Given the description of an element on the screen output the (x, y) to click on. 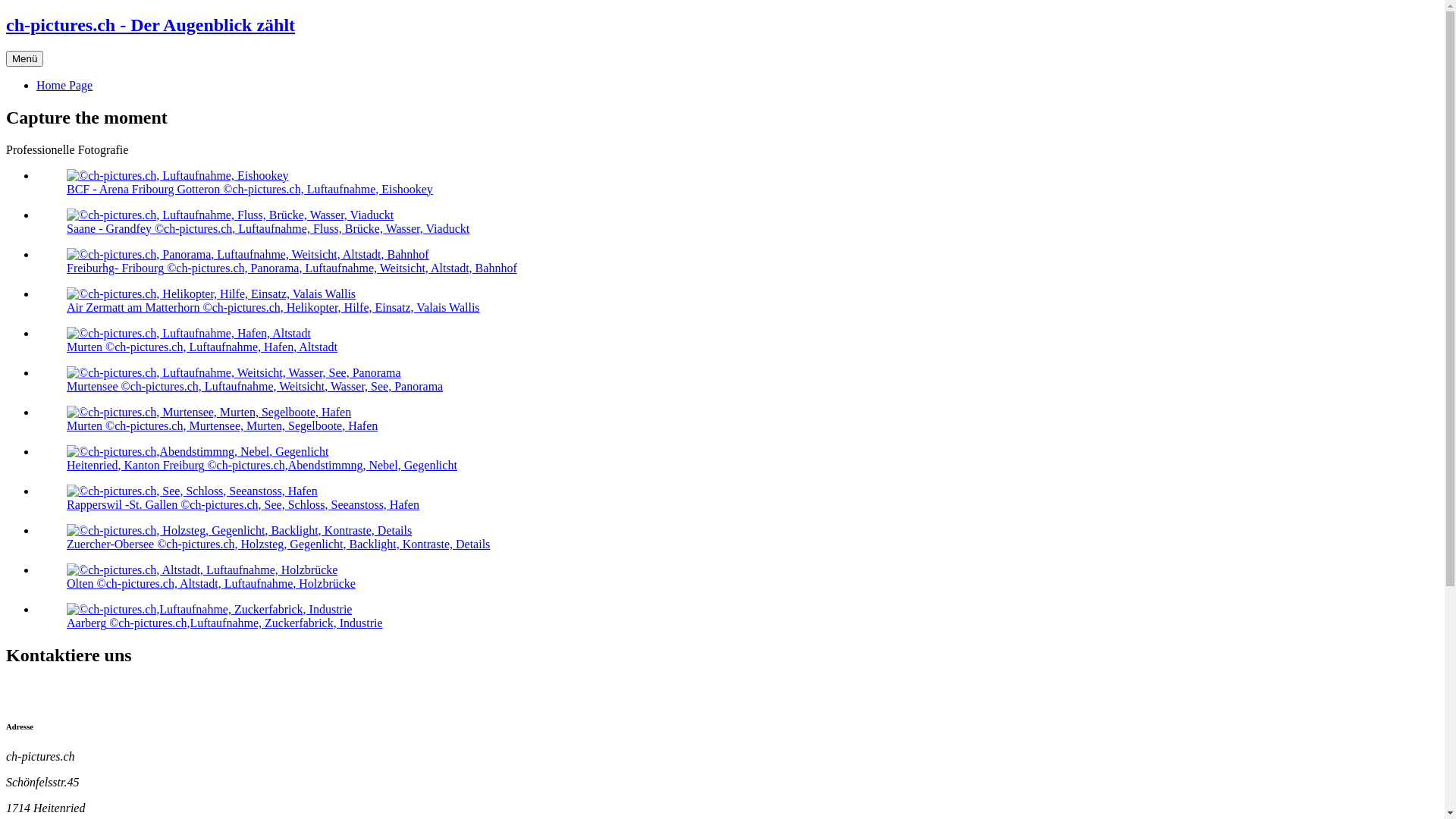
BCF - Arena Fribourg Gotteron Element type: hover (177, 175)
Zuercher-Obersee Element type: hover (238, 530)
Rapperswil -St. Gallen Element type: hover (191, 490)
Saane - Grandfey Element type: hover (229, 214)
Saane - Grandfey Element type: hover (229, 215)
Rapperswil -St. Gallen Element type: hover (191, 491)
Air Zermatt am Matterhorn Element type: hover (210, 293)
Freiburhg- Fribourg Element type: hover (247, 254)
Murten Element type: hover (188, 333)
Aarberg Element type: hover (208, 609)
Murtensee Element type: hover (233, 372)
Murten Element type: hover (188, 332)
Zuercher-Obersee Element type: hover (238, 530)
BCF - Arena Fribourg Gotteron Element type: hover (177, 175)
Aarberg Element type: hover (208, 608)
Murtensee Element type: hover (233, 372)
Olten Element type: hover (201, 570)
Heitenried, Kanton Freiburg Element type: hover (197, 451)
Murten Element type: hover (208, 411)
Murten Element type: hover (208, 412)
Olten Element type: hover (201, 569)
Air Zermatt am Matterhorn Element type: hover (210, 294)
Freiburhg- Fribourg Element type: hover (247, 253)
Home Page Element type: text (64, 84)
Heitenried, Kanton Freiburg Element type: hover (197, 451)
